Given the description of an element on the screen output the (x, y) to click on. 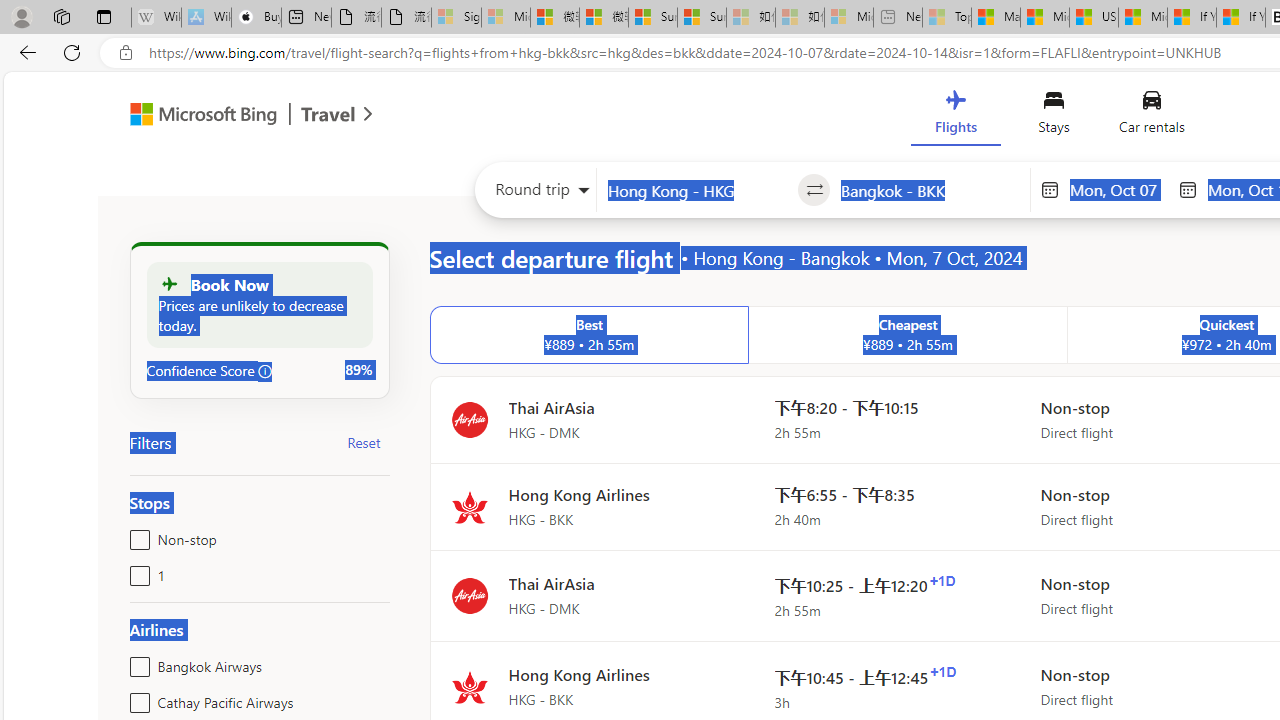
Cathay Pacific Airways (136, 698)
